Given the description of an element on the screen output the (x, y) to click on. 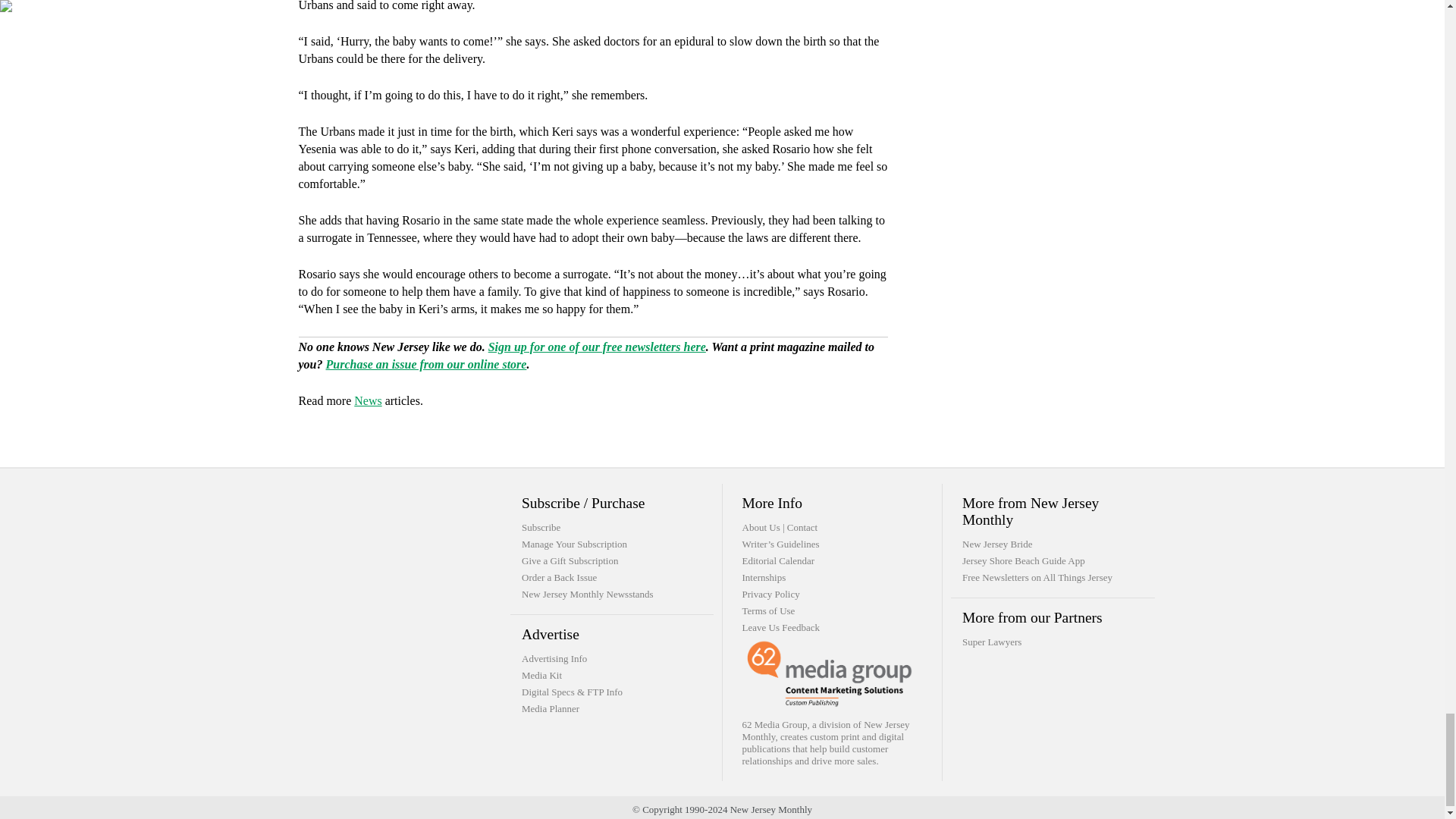
Leave us feedback (780, 627)
